Given the description of an element on the screen output the (x, y) to click on. 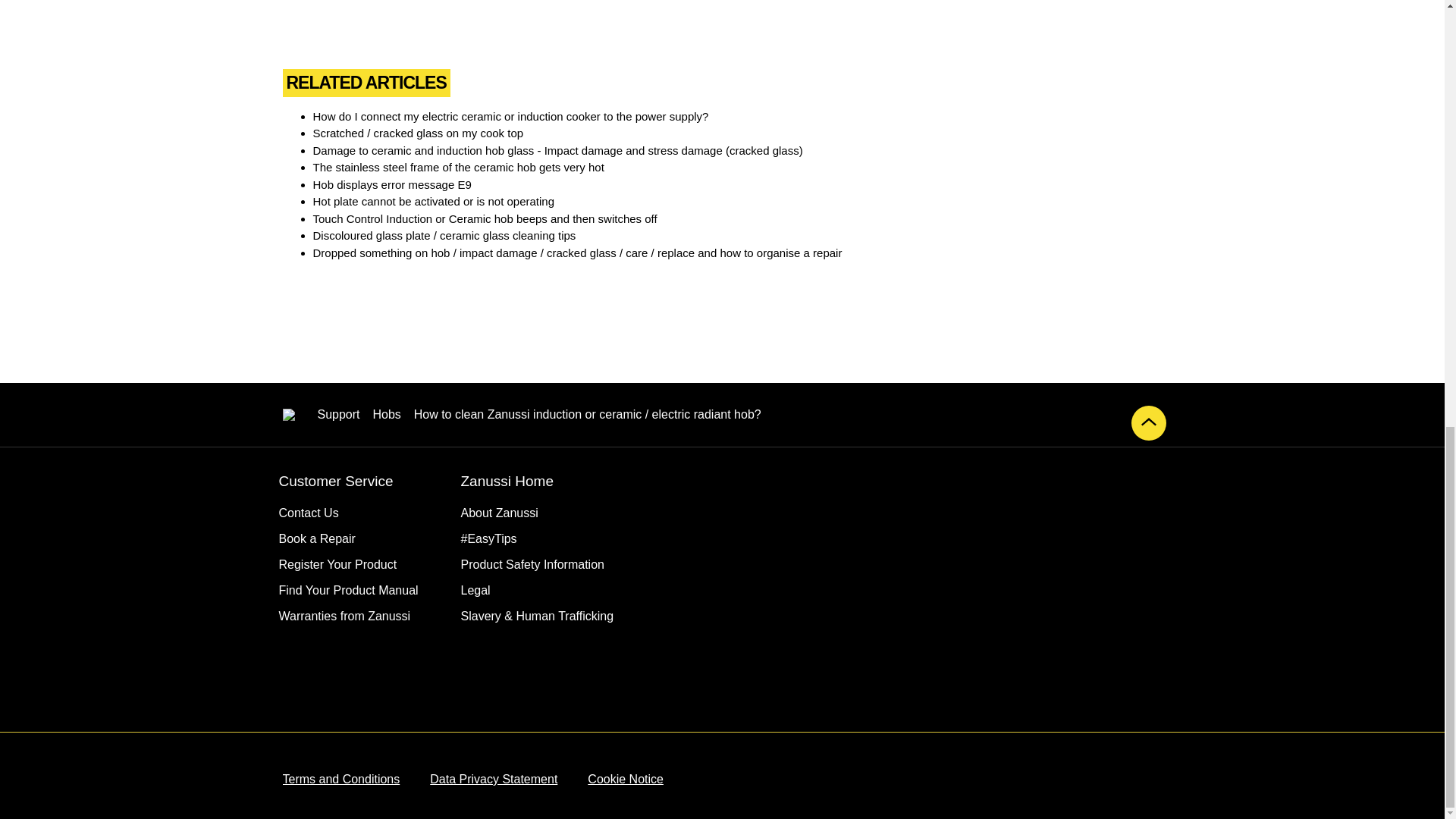
Terms and Conditions (340, 779)
